Given the description of an element on the screen output the (x, y) to click on. 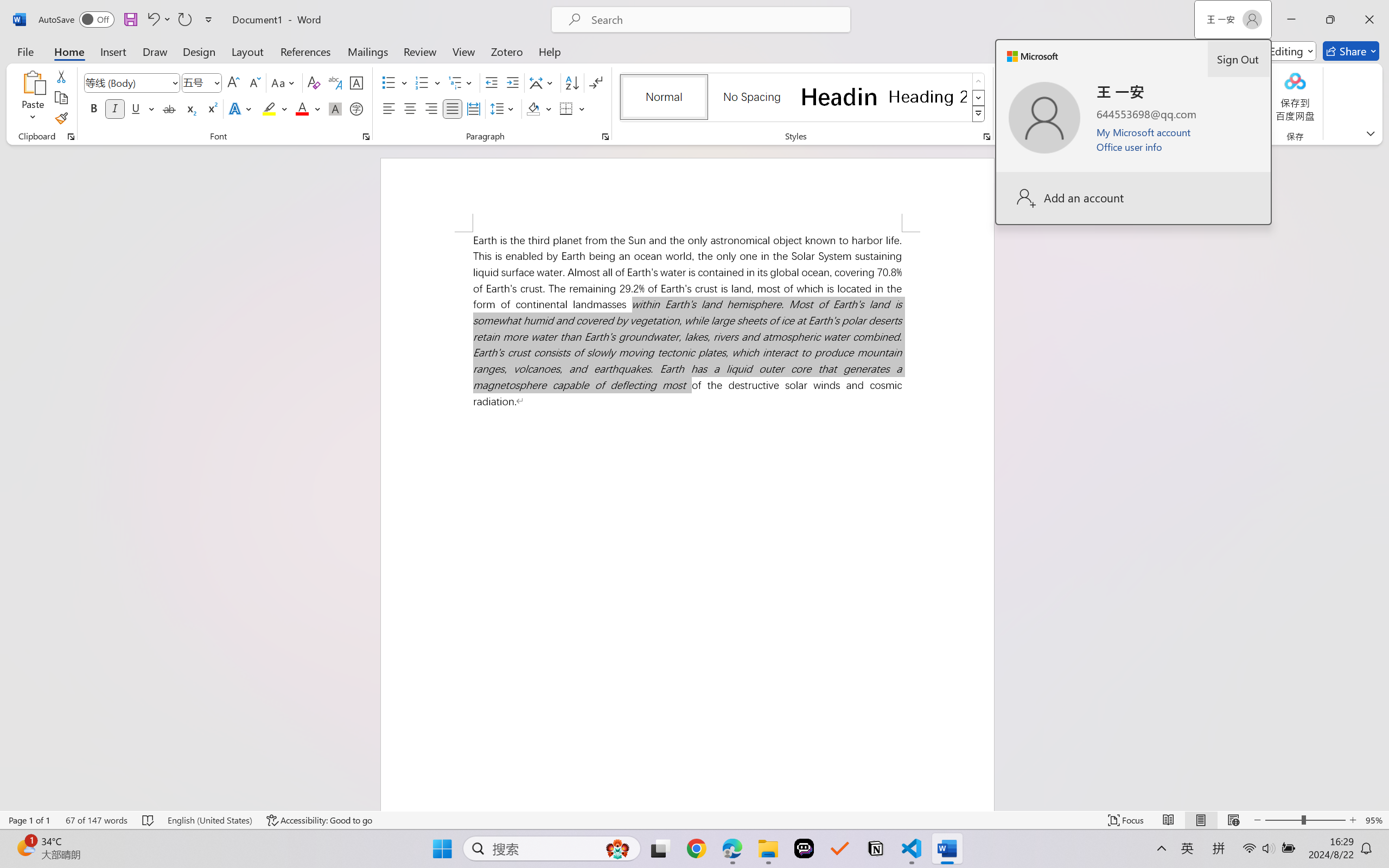
Google Chrome (696, 848)
Format Painter (60, 118)
Cut (60, 75)
Microsoft search (715, 19)
Text Highlight Color (274, 108)
